Given the description of an element on the screen output the (x, y) to click on. 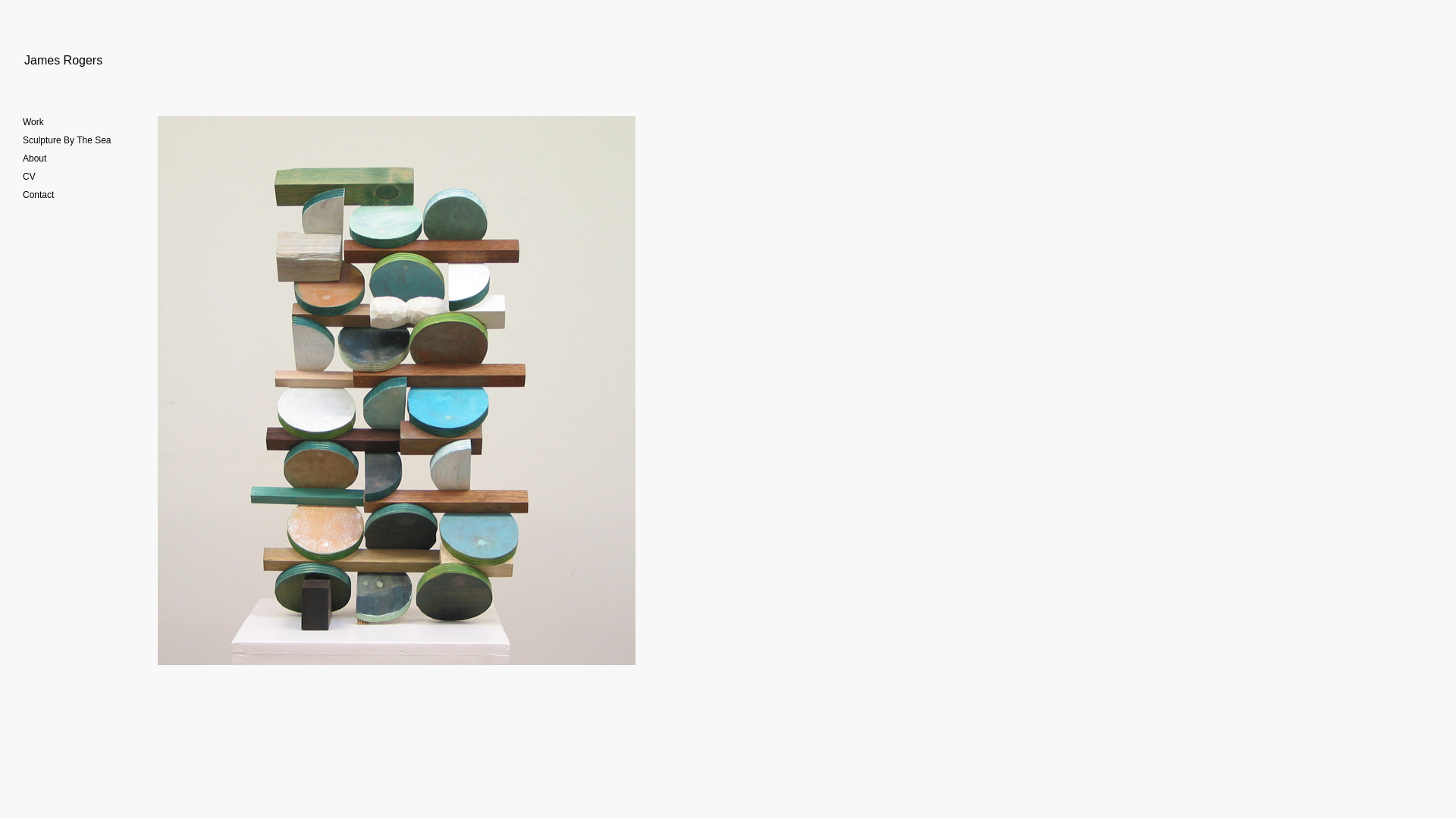
About Element type: text (34, 158)
James Rogers Element type: text (63, 59)
Sculpture By The Sea Element type: text (66, 139)
Work Element type: text (32, 121)
CV Element type: text (28, 176)
Contact Element type: text (37, 194)
